Given the description of an element on the screen output the (x, y) to click on. 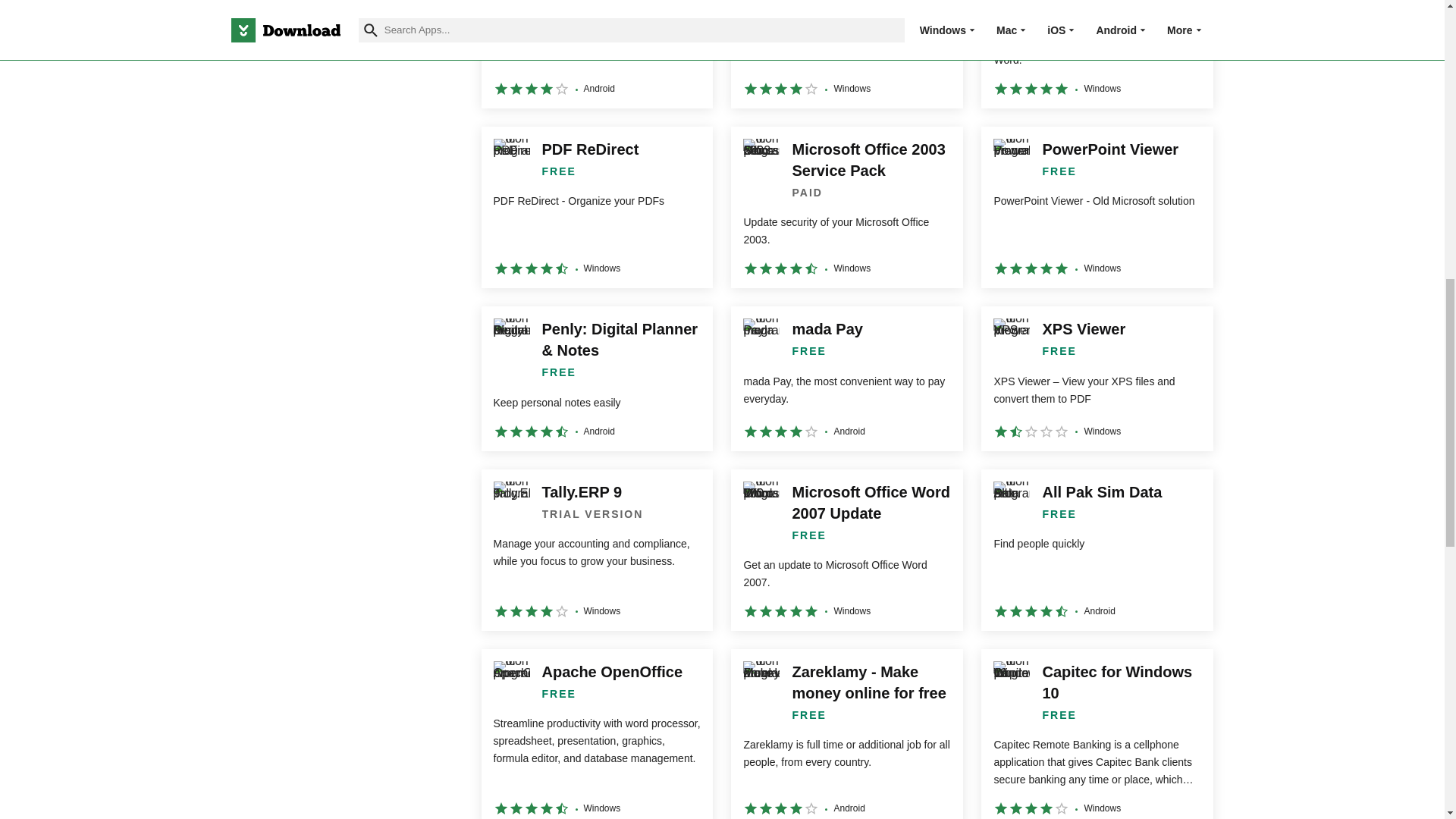
mada Pay (846, 378)
Zelle (596, 54)
Apache OpenOffice (596, 734)
Tally.ERP 9 (596, 549)
Microsoft Office Word 2007 Update (846, 549)
All Pak Sim Data (1096, 549)
PowerPoint Viewer (1096, 207)
Microsoft Office 2003 Service Pack (846, 207)
Zareklamy - Make money online for free (846, 734)
Free Barcode Generator (1096, 54)
